Given the description of an element on the screen output the (x, y) to click on. 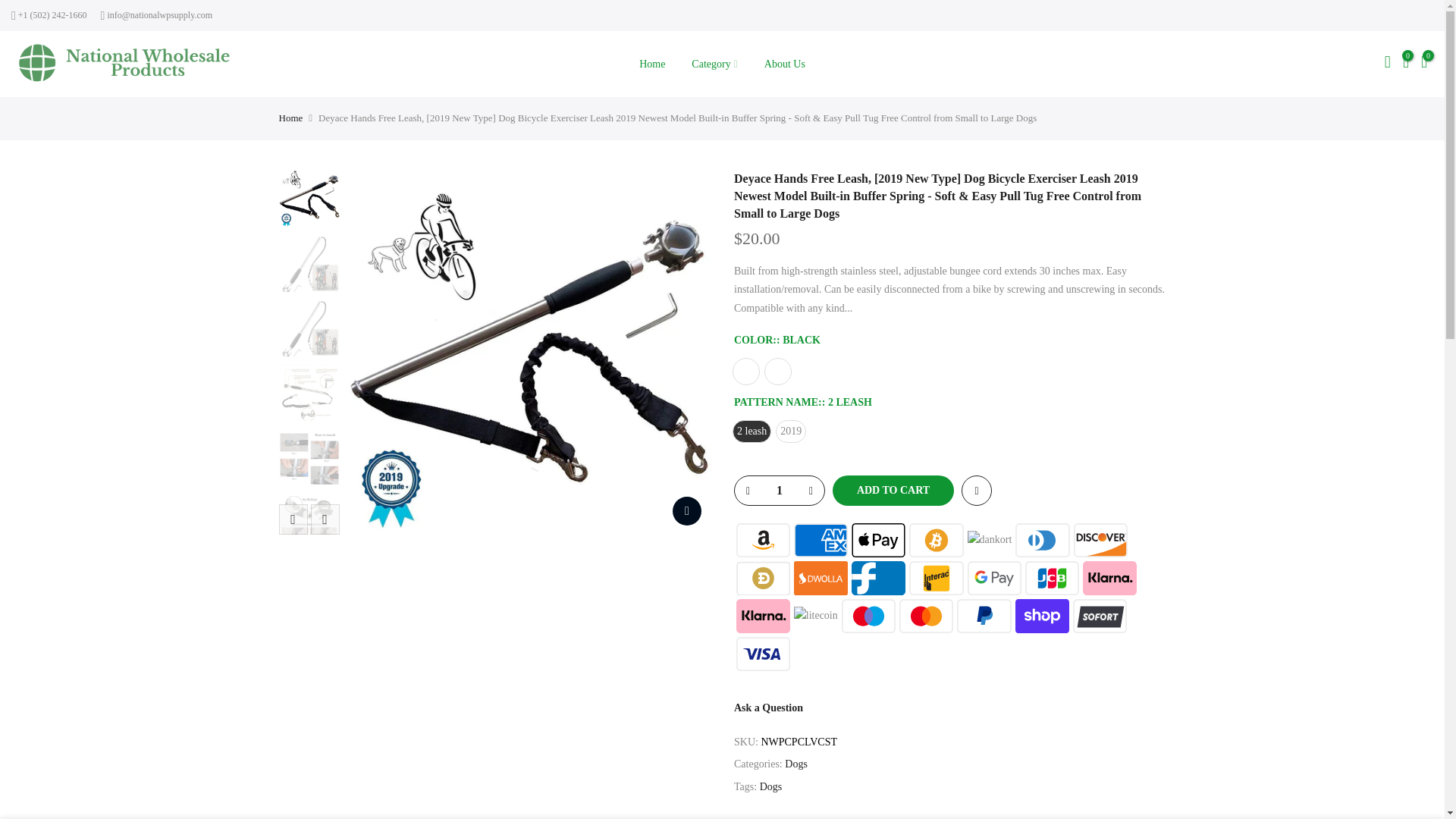
Ask a Question (768, 707)
Category (714, 63)
0 (1405, 64)
Home (290, 117)
ADD TO CART (888, 490)
Dogs (769, 786)
Dogs (796, 763)
About Us (784, 63)
Home (652, 63)
1 (778, 490)
